Given the description of an element on the screen output the (x, y) to click on. 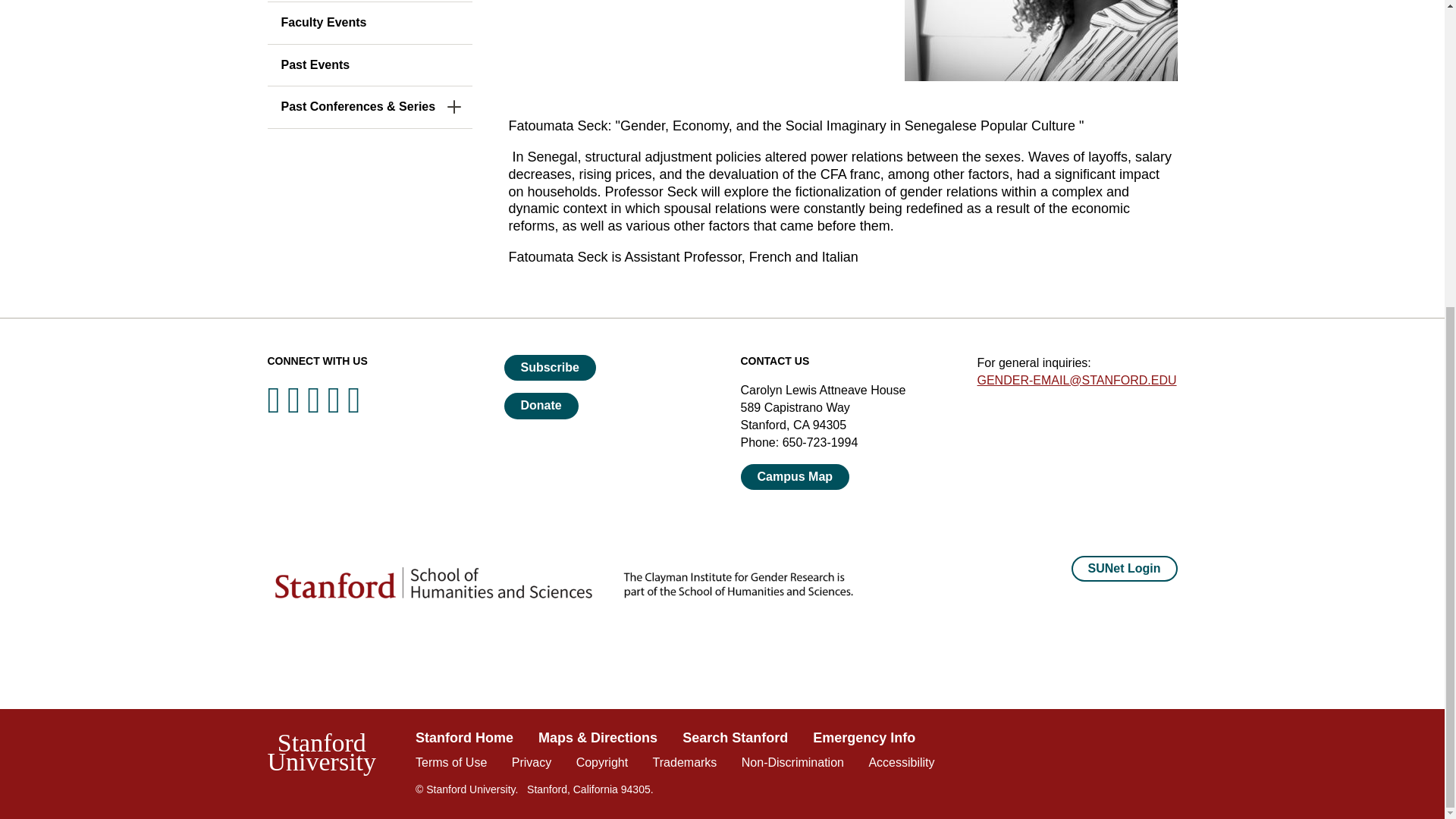
Terms of use for sites (450, 762)
Report web accessibility issues (900, 762)
Ownership and use of Stanford trademarks and images (684, 762)
Report alleged copyright infringement (601, 762)
Privacy and cookie policy (531, 762)
Non-discrimination policy (792, 762)
